Given the description of an element on the screen output the (x, y) to click on. 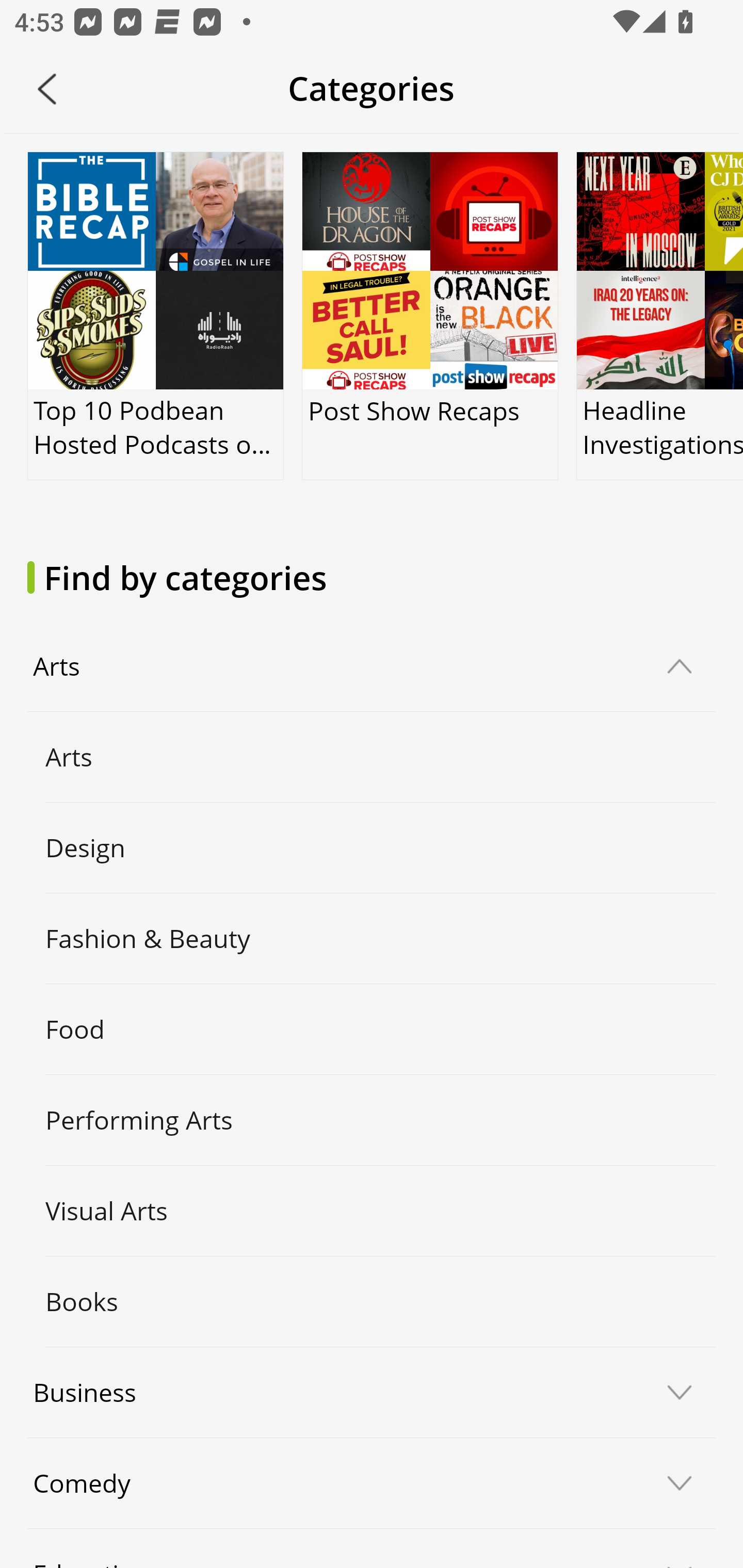
Back (46, 88)
Top 10 Podbean Hosted Podcasts of 2023 (155, 315)
Post Show Recaps (429, 315)
Headline Investigations (659, 315)
Arts (371, 665)
Arts (371, 756)
Design (371, 847)
Fashion & Beauty (371, 938)
Food (371, 1029)
Performing Arts (371, 1120)
Visual Arts (371, 1210)
Books (371, 1300)
Business (371, 1391)
Comedy (371, 1482)
